Given the description of an element on the screen output the (x, y) to click on. 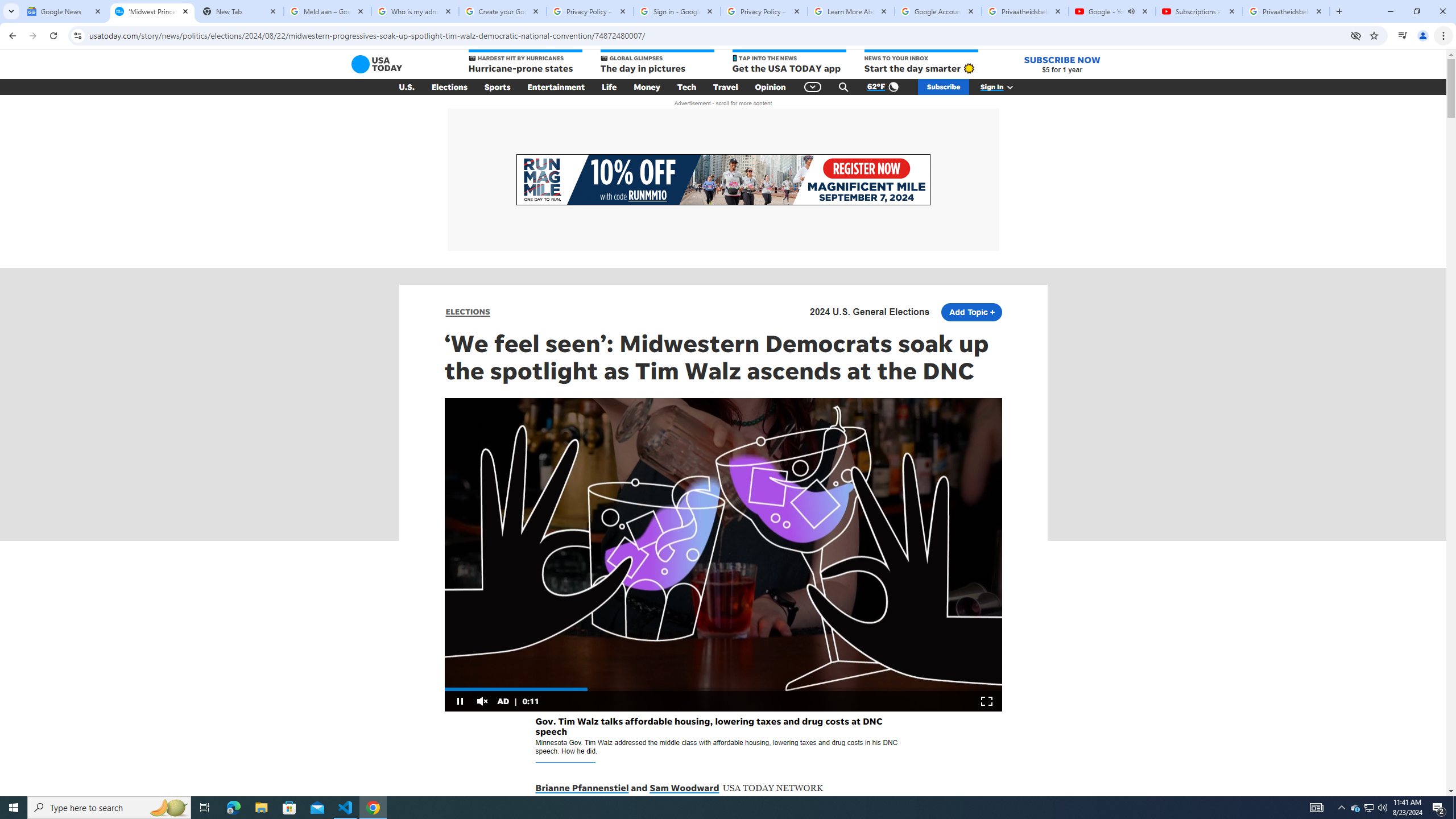
Search (843, 87)
New Tab (239, 11)
Travel (725, 87)
Create your Google Account (502, 11)
Sign in - Google Accounts (676, 11)
Brianne Pfannenstiel (581, 788)
Tech (686, 87)
Entertainment (556, 87)
